Given the description of an element on the screen output the (x, y) to click on. 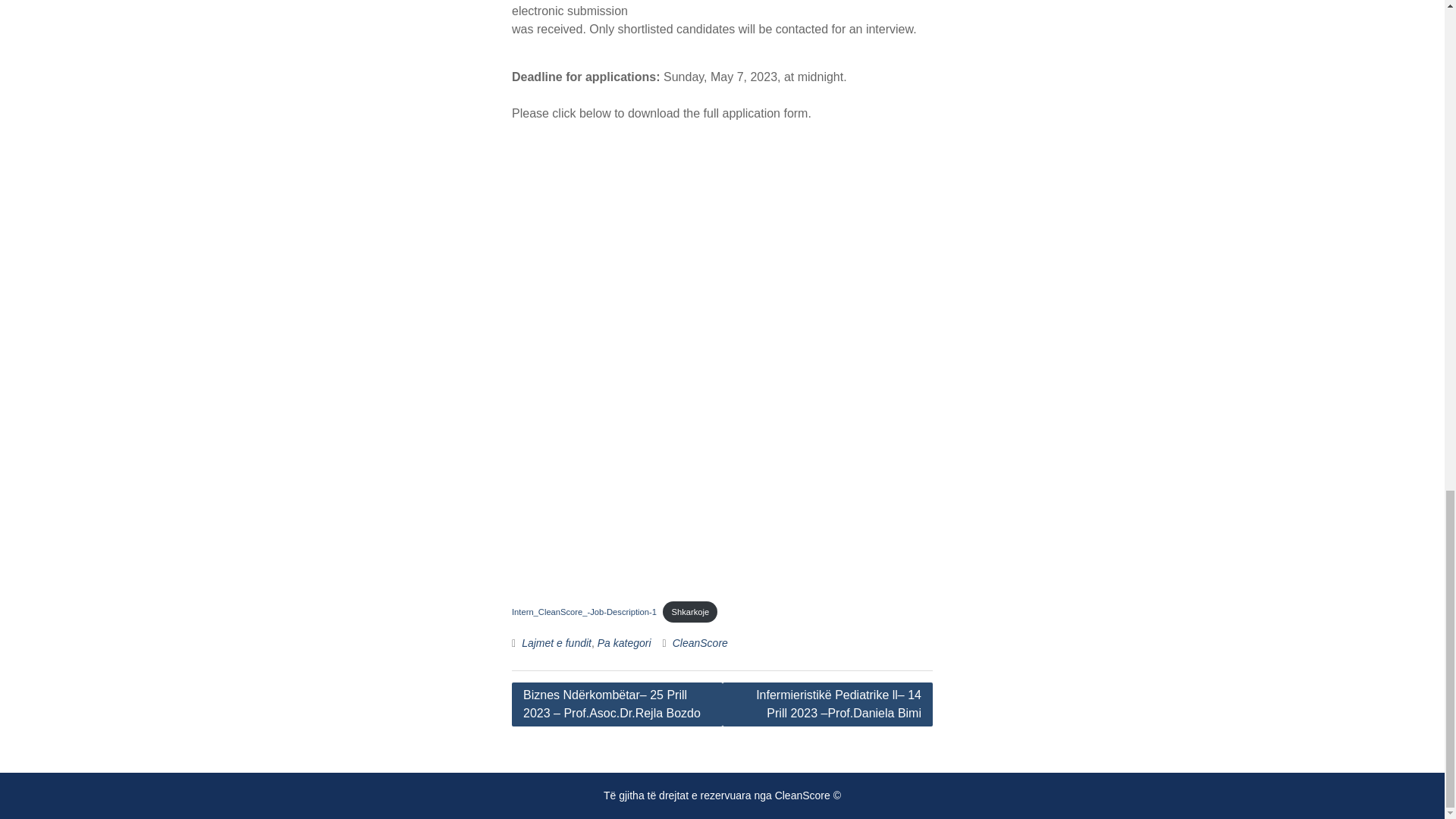
Shkarkoje (689, 611)
Pa kategori (623, 643)
CleanScore (700, 643)
Lajmet e fundit (556, 643)
